Given the description of an element on the screen output the (x, y) to click on. 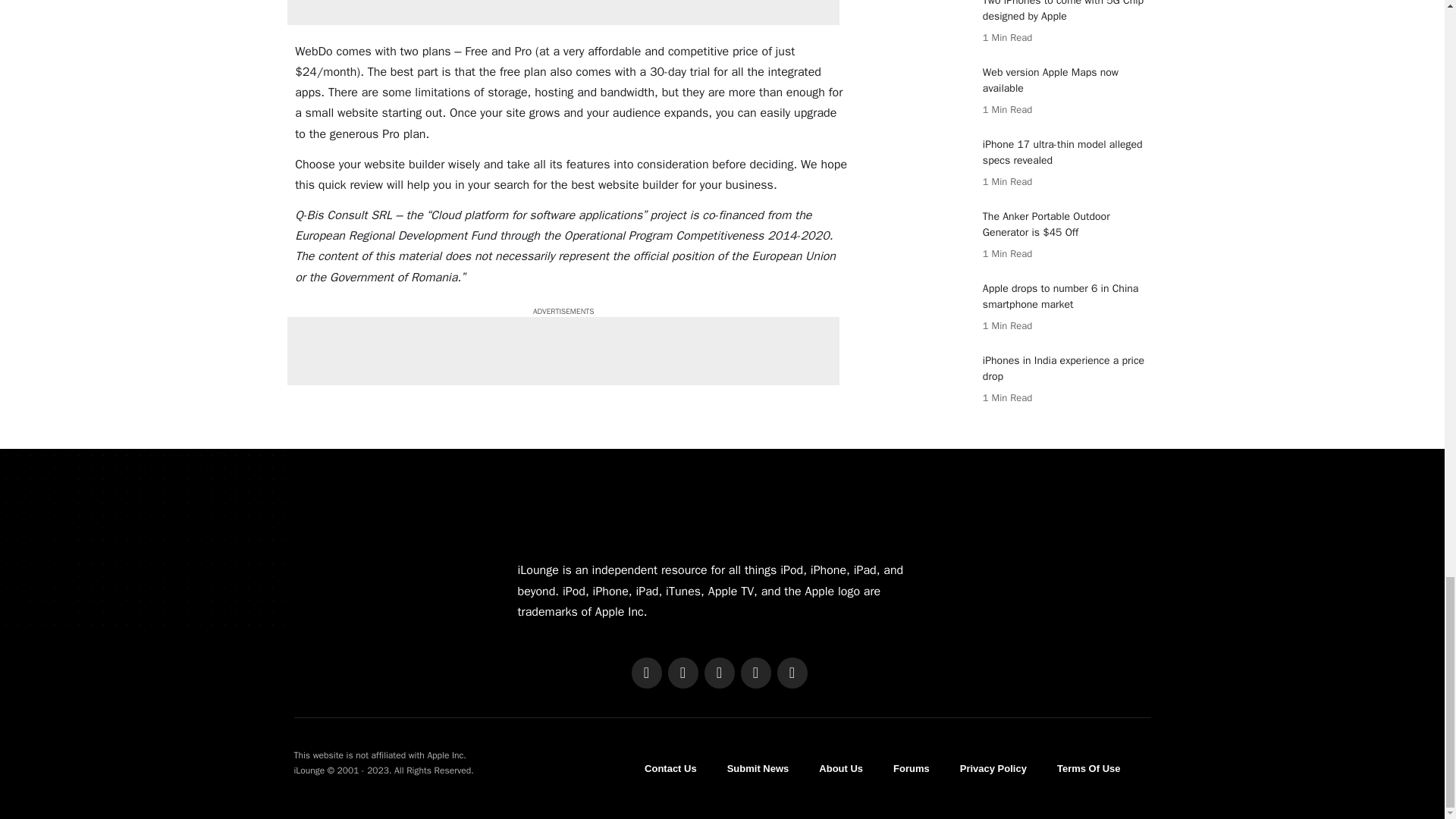
Instagram (718, 672)
LinkedIn (754, 672)
Twitter (681, 672)
Facebook (645, 672)
